Given the description of an element on the screen output the (x, y) to click on. 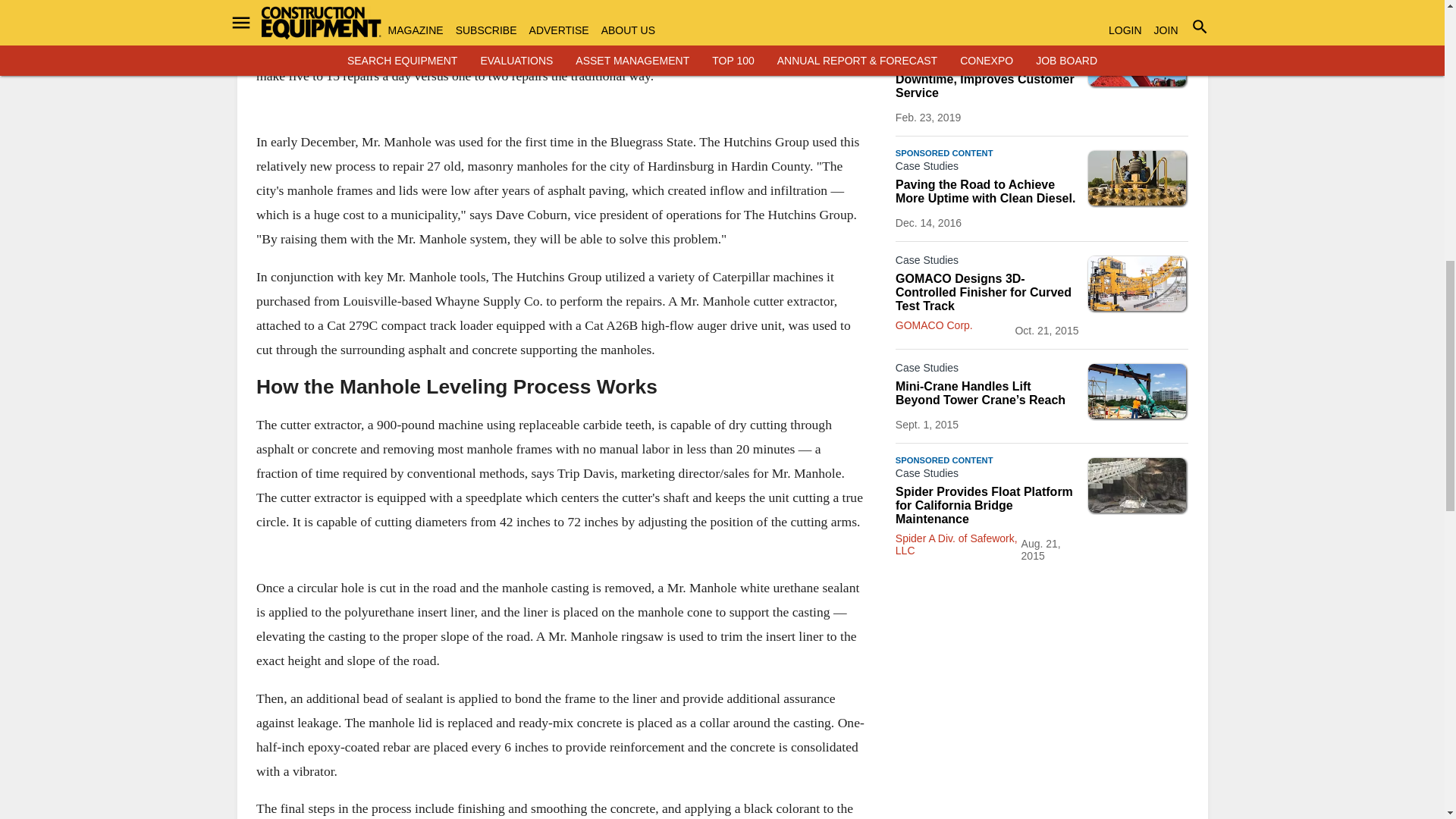
Maeda (1136, 390)
Barriere-Construction-Case-Study (1136, 177)
The Design (1136, 283)
